Given the description of an element on the screen output the (x, y) to click on. 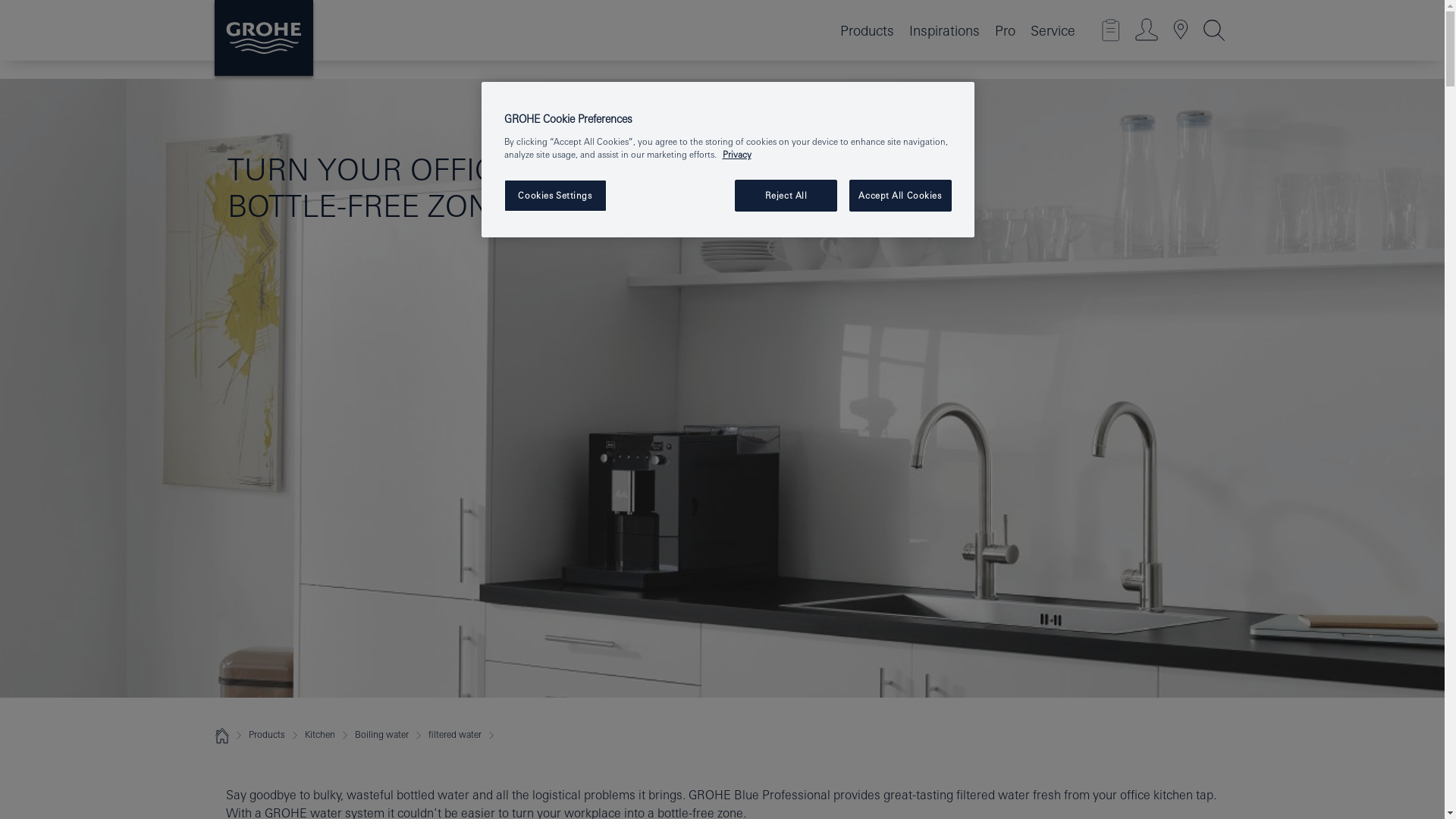
Service (1051, 30)
Inspirations (943, 30)
Products (866, 30)
GROHE - Pure joy of water  (263, 38)
